Given the description of an element on the screen output the (x, y) to click on. 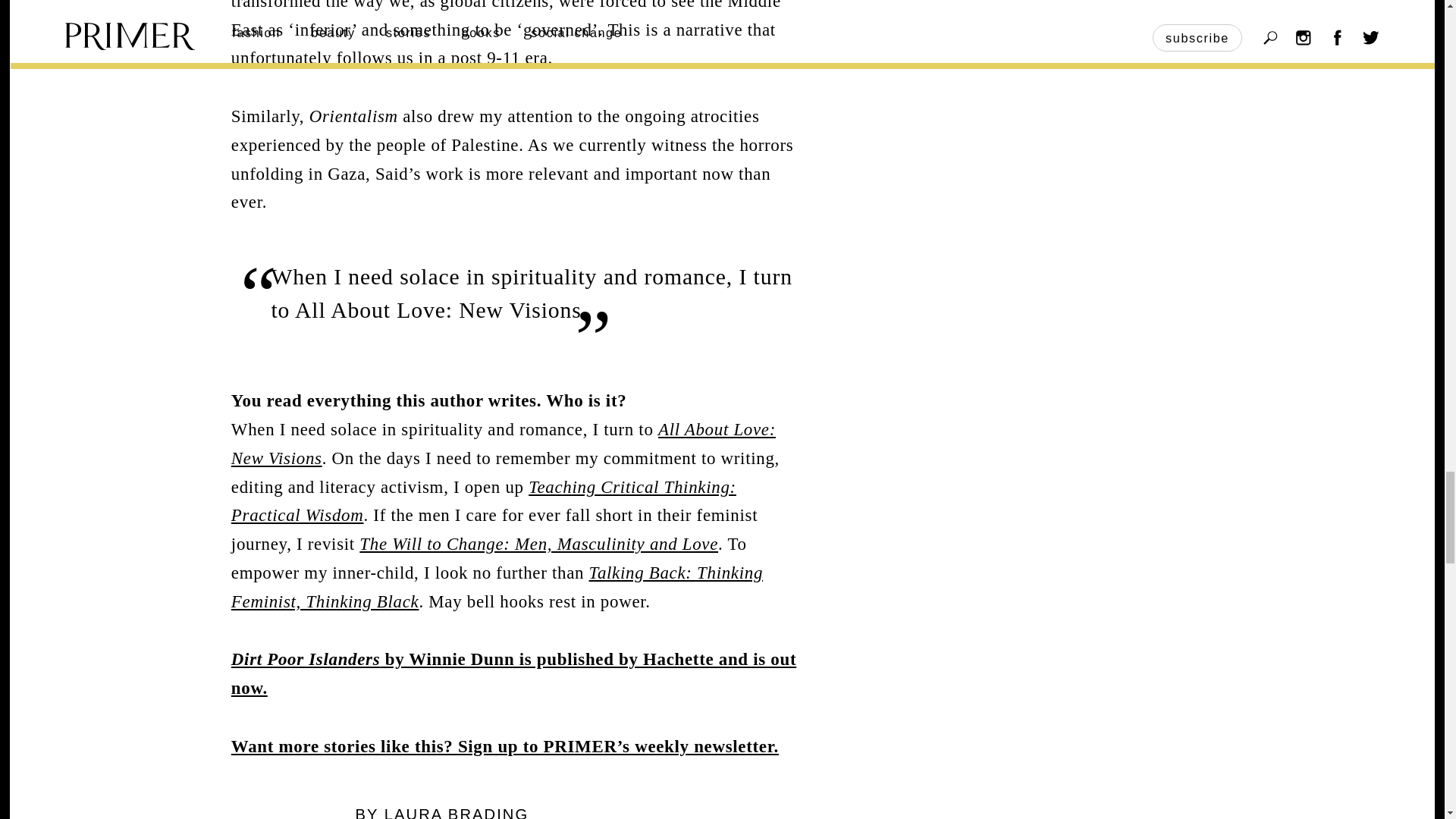
Talking Back: Thinking Feminist, Thinking Black (496, 586)
All About Love: New Visions (503, 443)
The Will to Change: Men, Masculinity and Love (538, 543)
Teaching Critical Thinking: Practical Wisdom (483, 501)
